Given the description of an element on the screen output the (x, y) to click on. 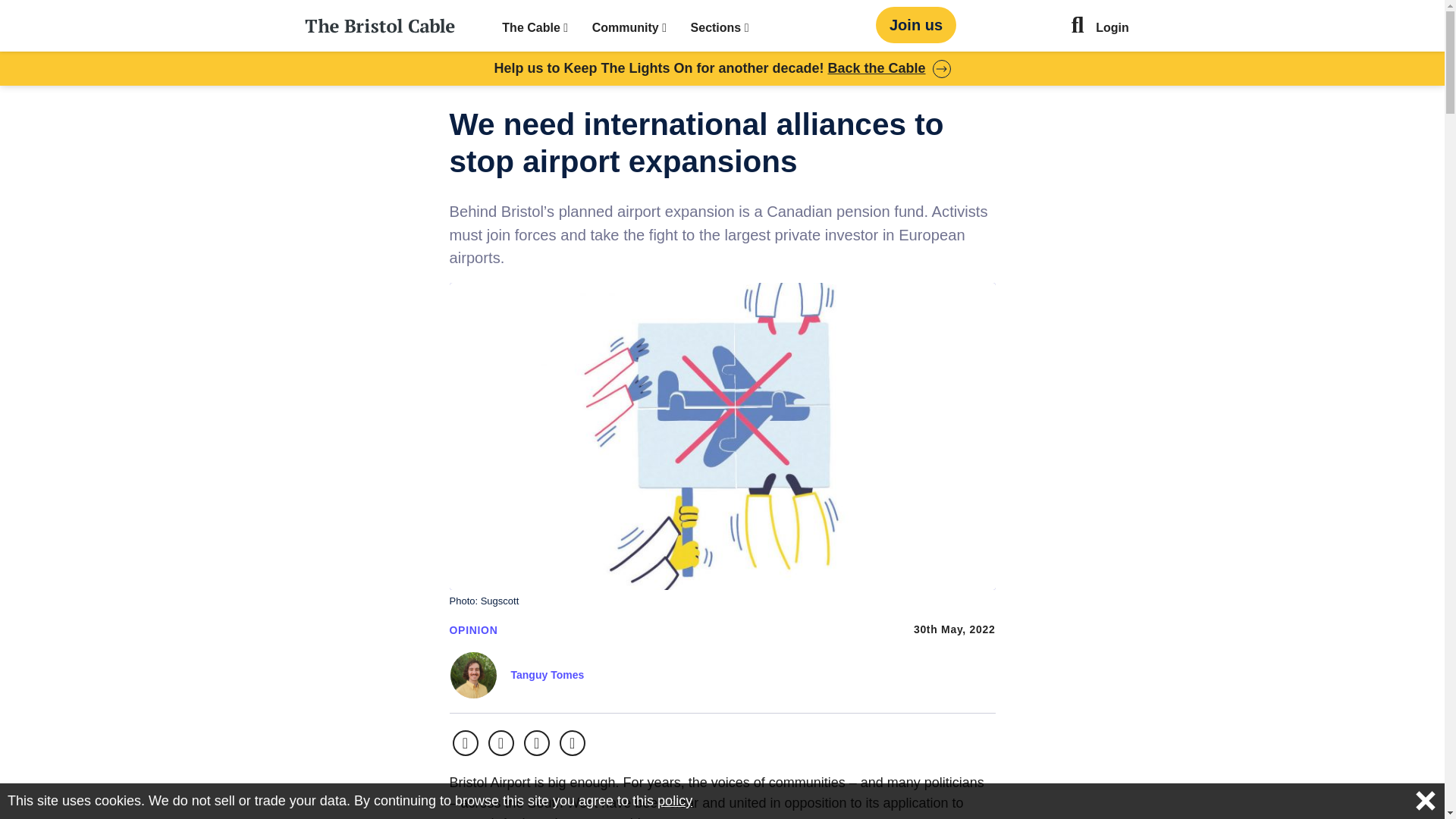
Join us (916, 24)
Tanguy Tomes (548, 675)
Opens in a new tab (464, 743)
Opens in a new tab (500, 743)
Tanguy Tomes (548, 675)
Opens in a new tab (537, 743)
OPINION (472, 630)
Login (1112, 29)
